Given the description of an element on the screen output the (x, y) to click on. 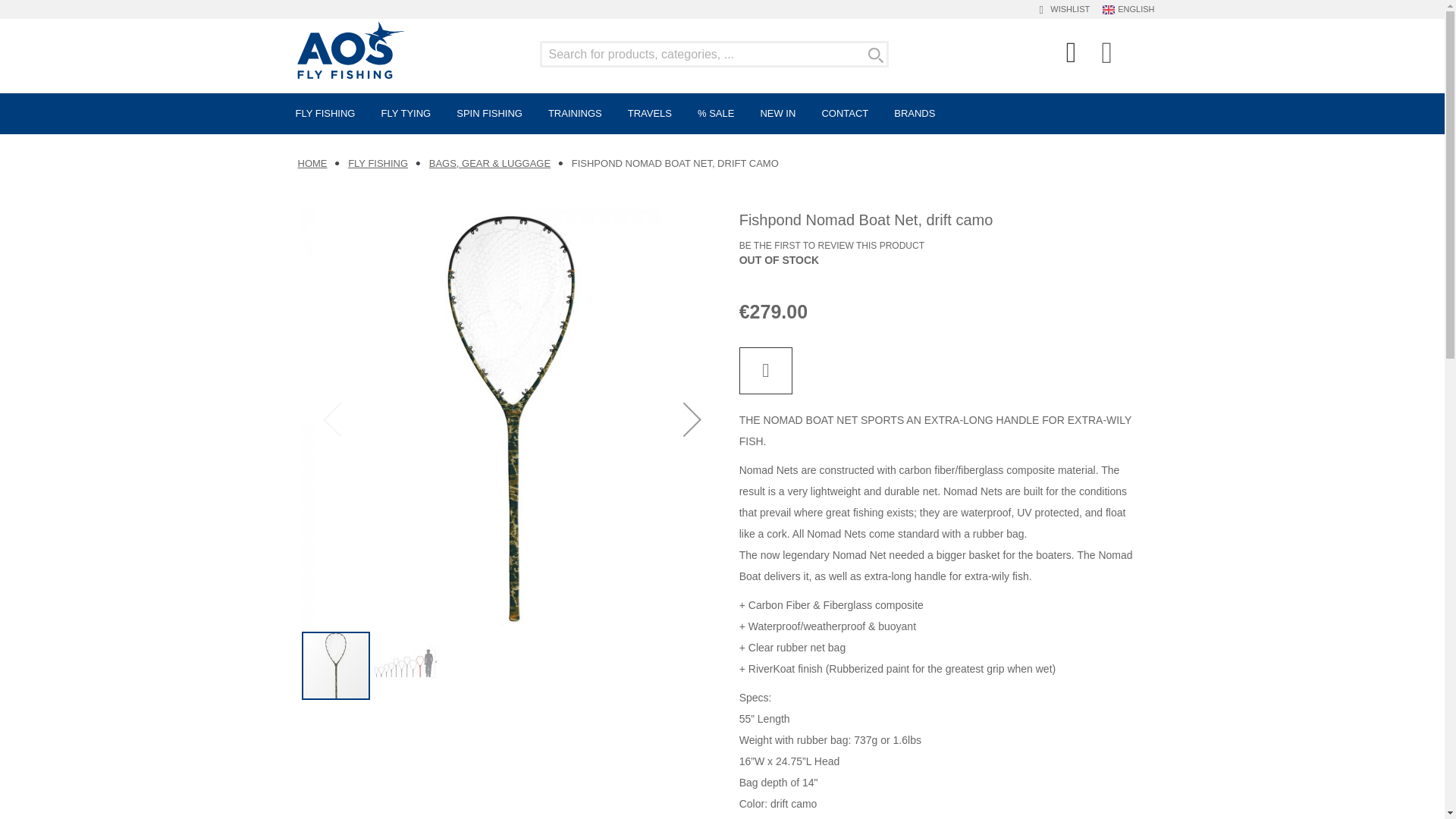
Wishlist (1067, 8)
FLY FISHING (325, 113)
Availability (779, 260)
WISHLIST (1067, 8)
MY CART (1107, 52)
Header Links (1071, 55)
Go to Home Page (311, 163)
